Given the description of an element on the screen output the (x, y) to click on. 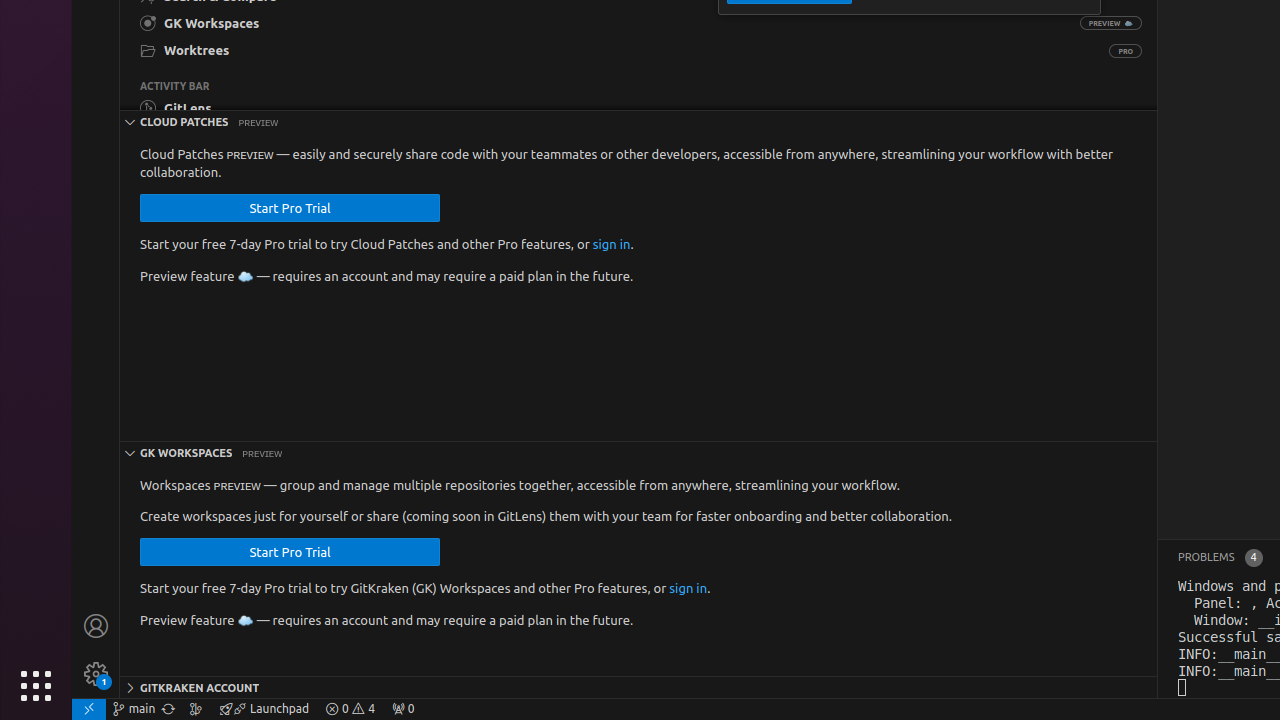
Warnings: 4 Element type: push-button (350, 709)
OSWorld (Git) - main, Checkout Branch/Tag... Element type: push-button (134, 709)
Start Pro Trial Element type: push-button (290, 208)
Problems (Ctrl+Shift+M) - Total 4 Problems Element type: page-tab (1219, 557)
OSWorld (Git) - Synchronize Changes Element type: push-button (168, 709)
